Given the description of an element on the screen output the (x, y) to click on. 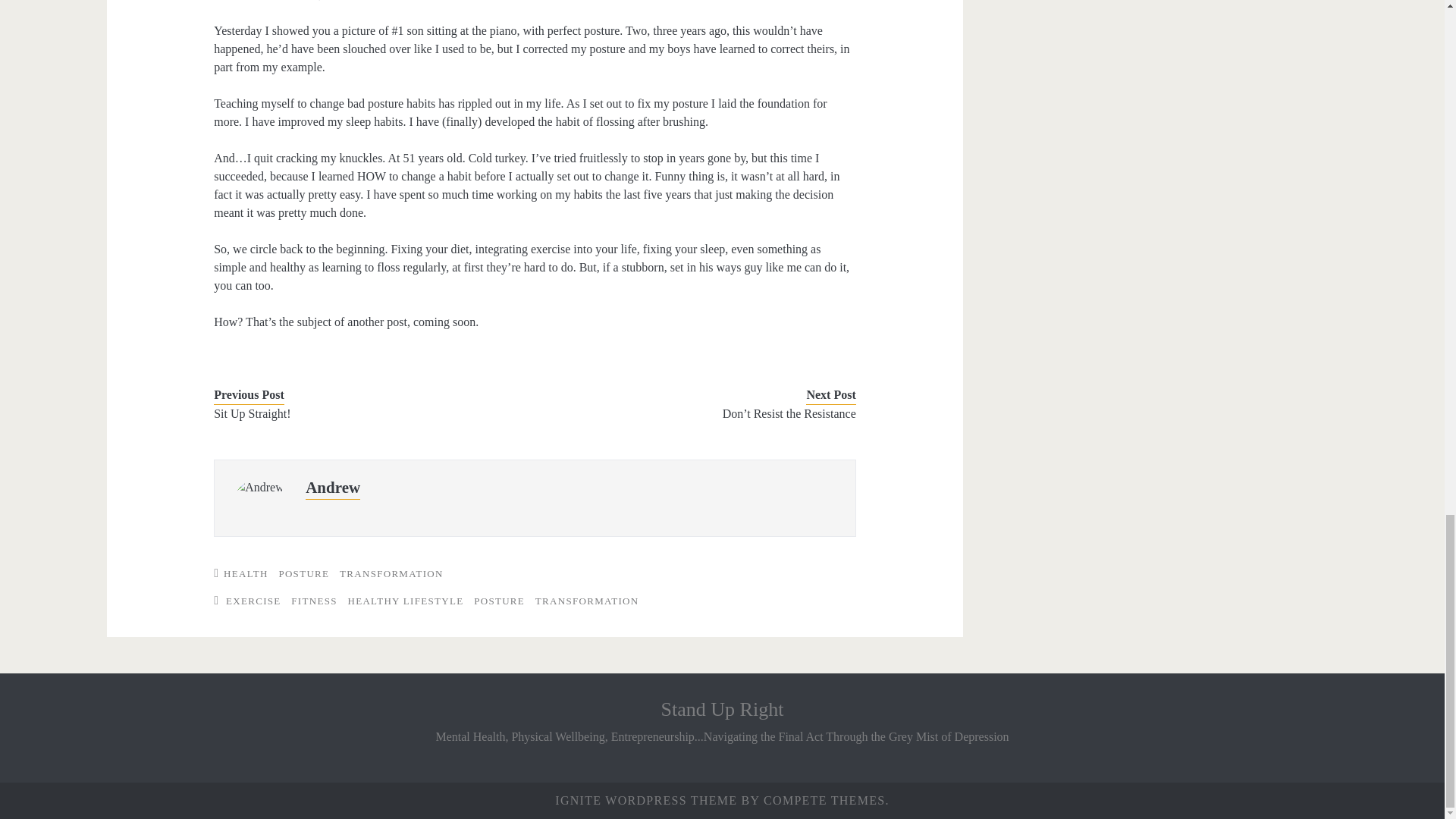
View all posts in Transformation (391, 573)
FITNESS (313, 600)
HEALTH (245, 573)
TRANSFORMATION (587, 600)
Stand Up Right (722, 709)
EXERCISE (253, 600)
Sit Up Straight! (361, 413)
POSTURE (499, 600)
TRANSFORMATION (391, 573)
View all posts tagged Healthy Lifestyle (405, 600)
